Given the description of an element on the screen output the (x, y) to click on. 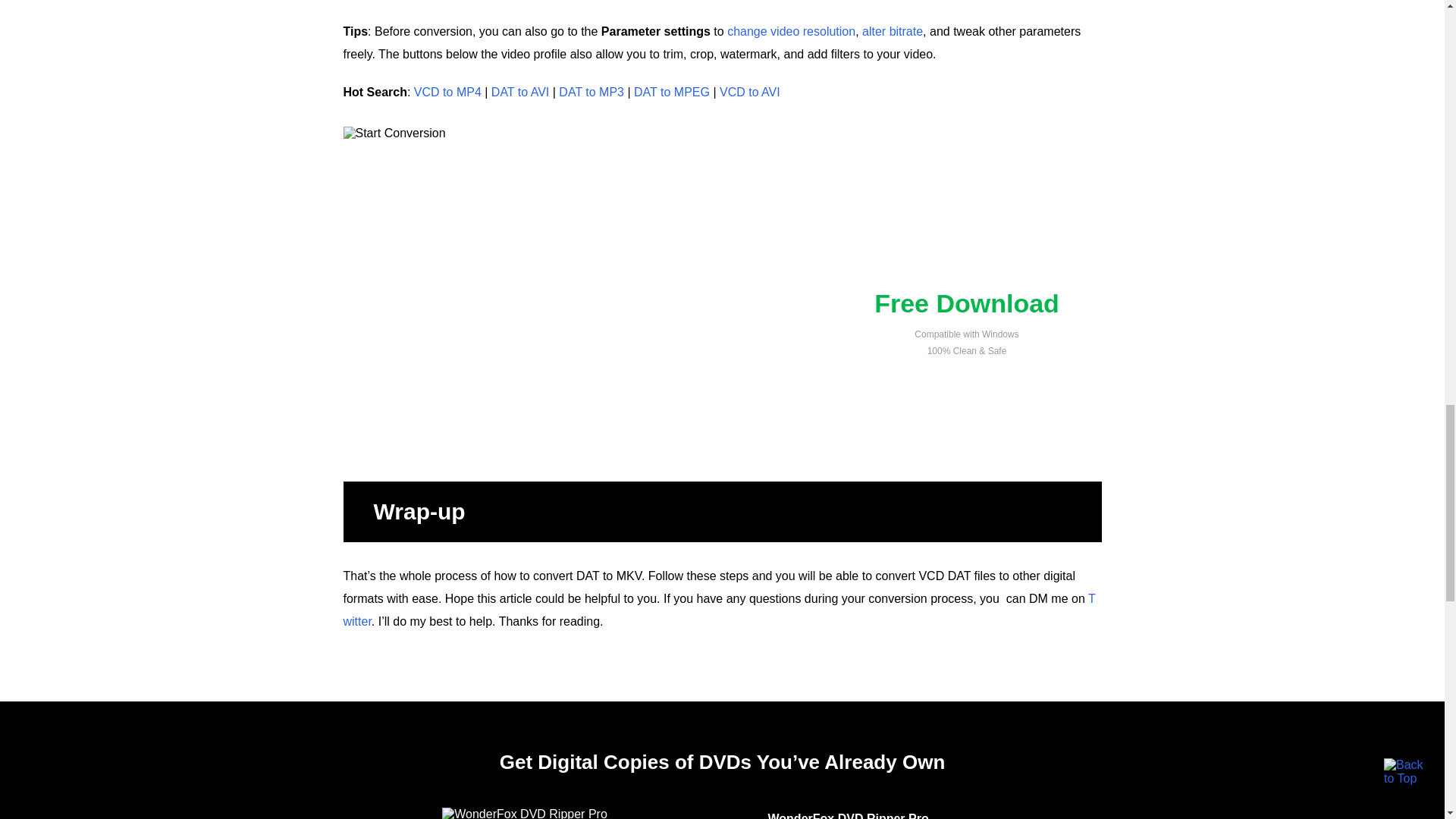
DAT to MPEG (671, 91)
DAT to MP3 (591, 91)
VCD to AVI (749, 91)
DAT to AVI (520, 91)
VCD to MP4 (447, 91)
change video resolution (791, 31)
alter bitrate (892, 31)
Twitter (718, 610)
